Given the description of an element on the screen output the (x, y) to click on. 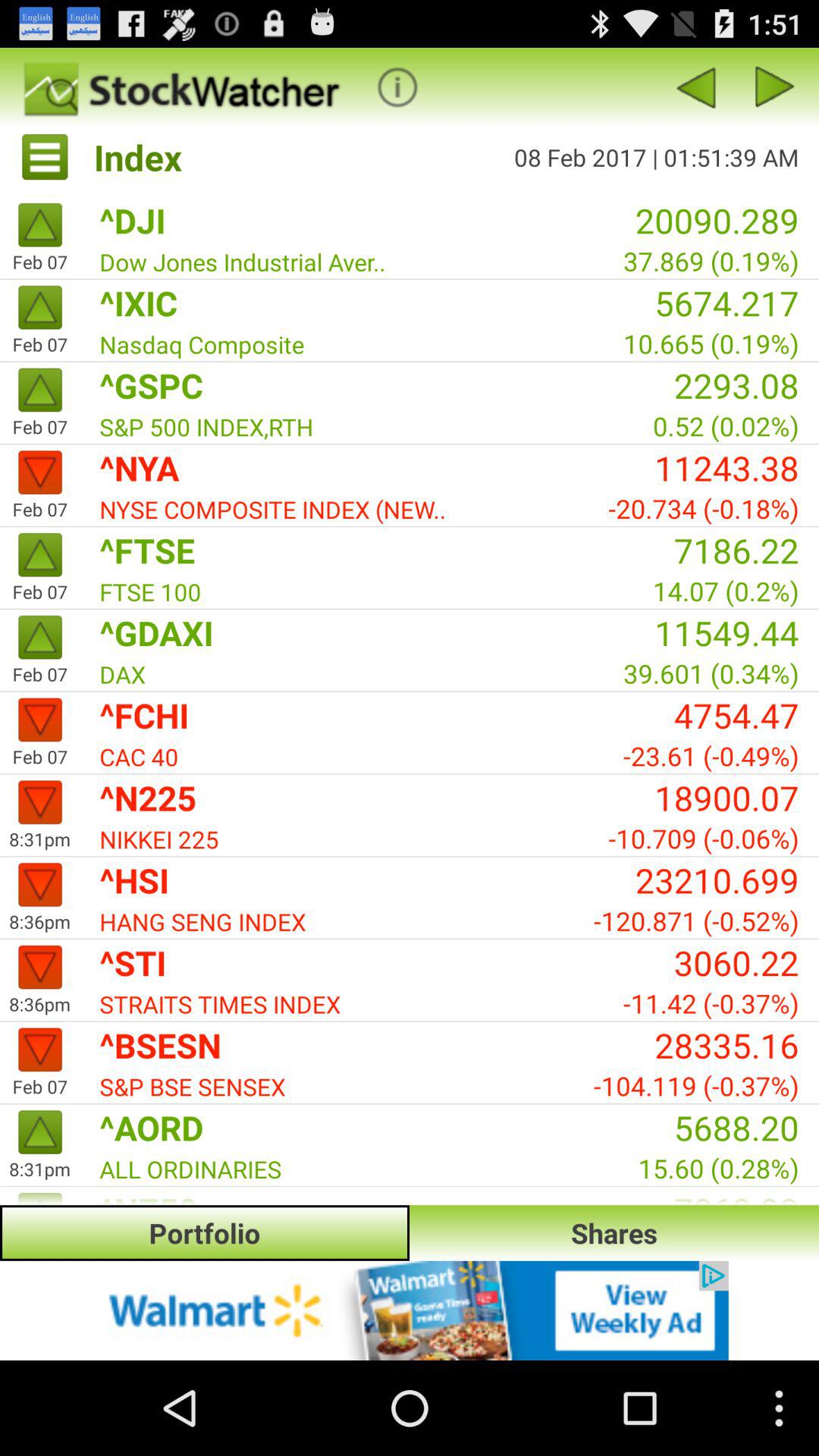
advartisement (409, 1310)
